Given the description of an element on the screen output the (x, y) to click on. 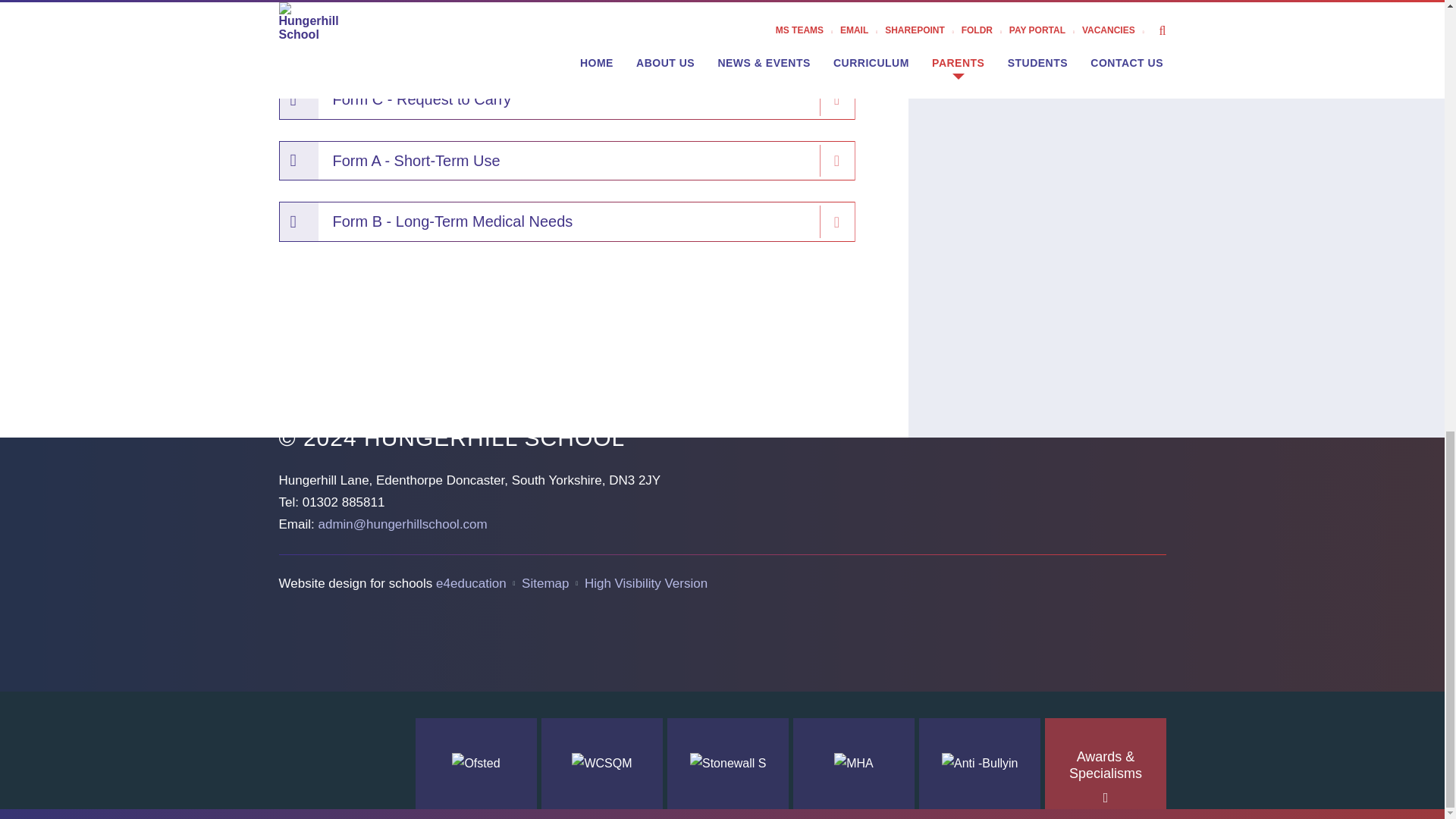
Anti -Bullying (979, 763)
Ofsted (475, 763)
WCSQM (601, 763)
Stonewall School Champion (727, 763)
MHA (853, 763)
